Given the description of an element on the screen output the (x, y) to click on. 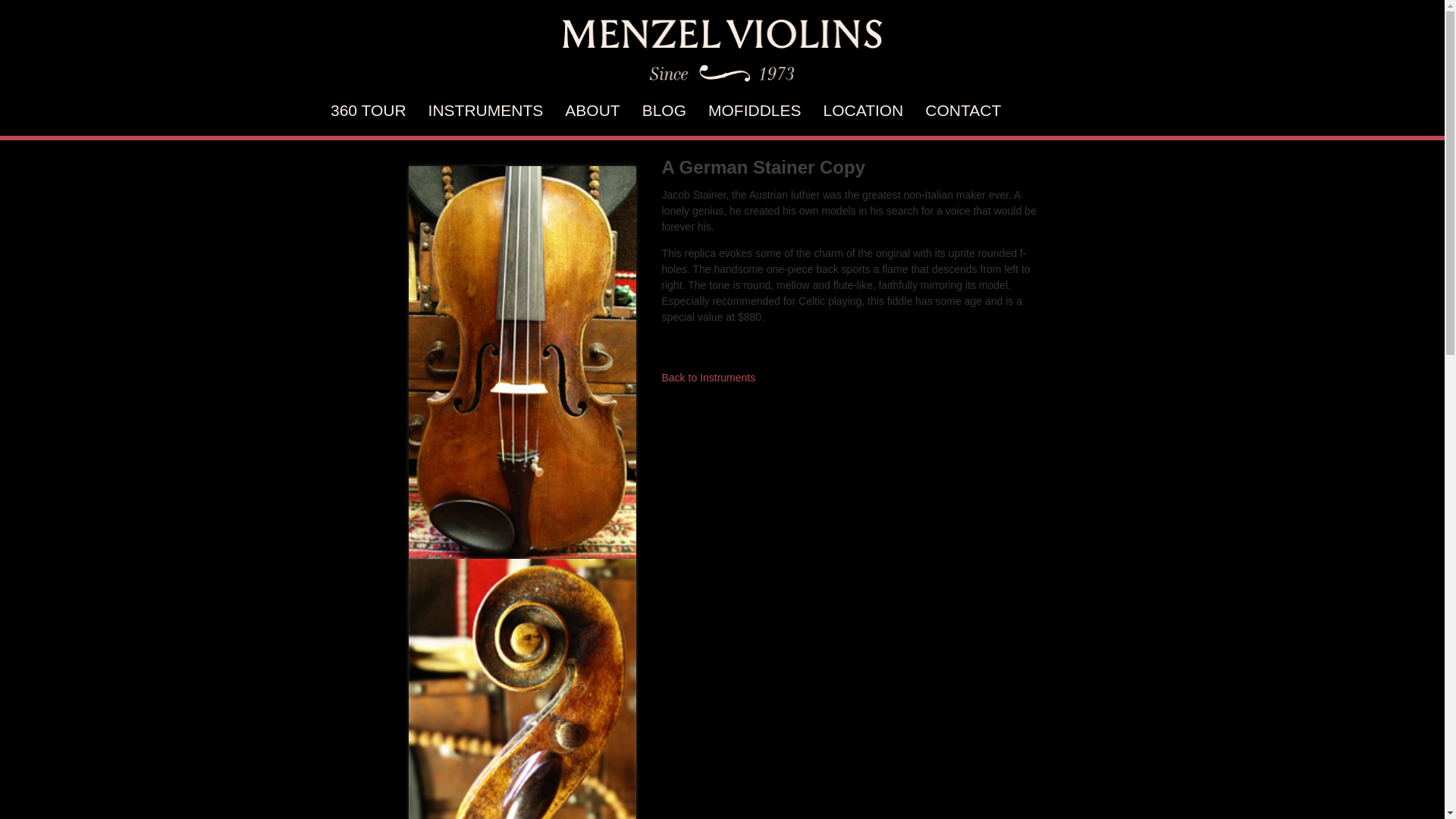
BLOG (663, 109)
Back to Instruments (708, 377)
LOCATION (864, 109)
CONTACT (962, 109)
INSTRUMENTS (485, 109)
Back to Instruments (708, 377)
ABOUT (592, 109)
MOFIDDLES (754, 109)
360 TOUR (368, 109)
